Given the description of an element on the screen output the (x, y) to click on. 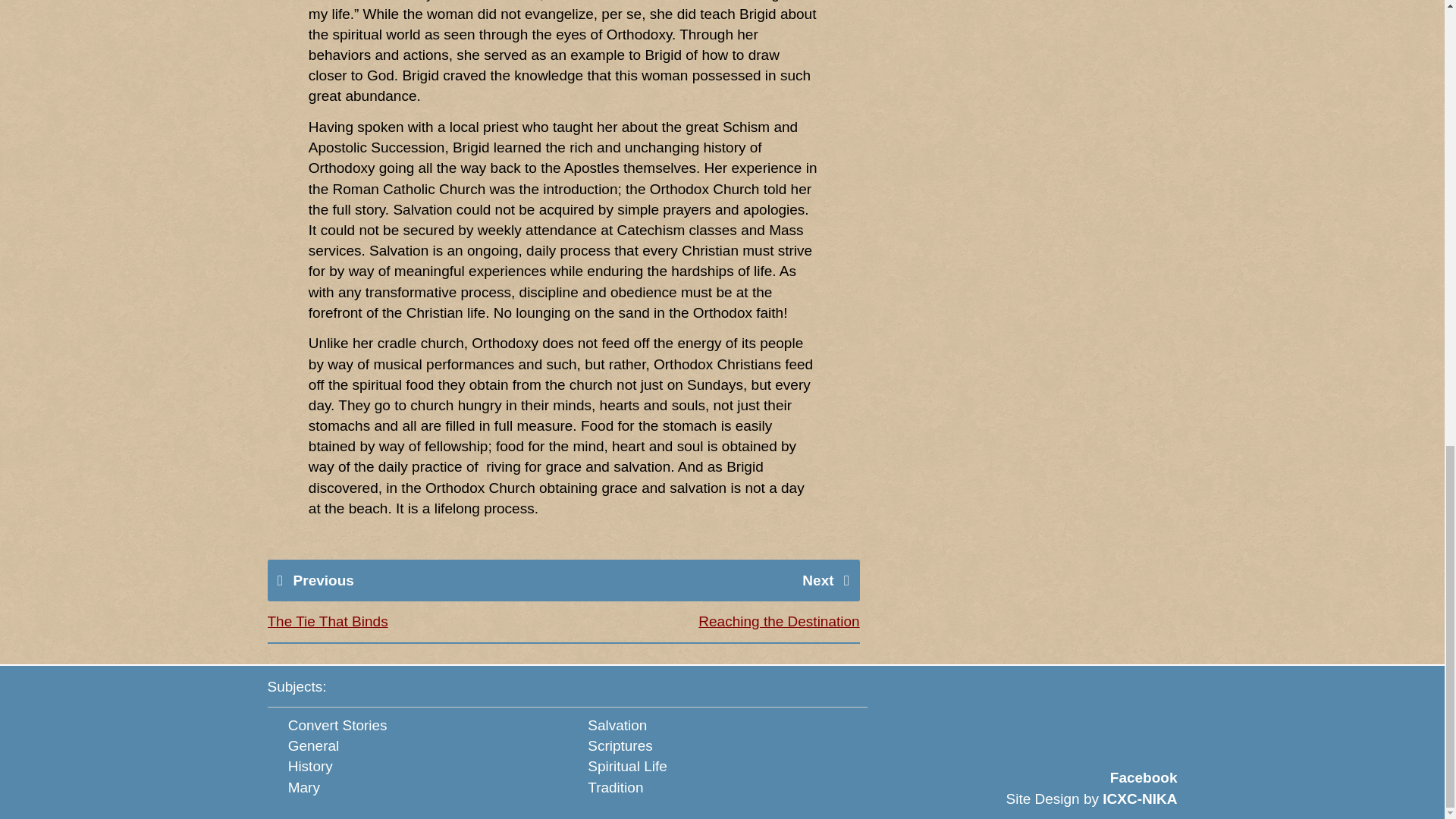
Convert Stories (337, 725)
Facebook (1143, 777)
History (310, 765)
Salvation (617, 725)
Mary (304, 786)
ICXC-NIKA (1139, 798)
Next (817, 580)
Scriptures (620, 745)
Reaching the Destination (778, 621)
The Tie That Binds (326, 621)
General (313, 745)
Tradition (615, 786)
Spiritual Life (627, 765)
Previous (323, 580)
